Given the description of an element on the screen output the (x, y) to click on. 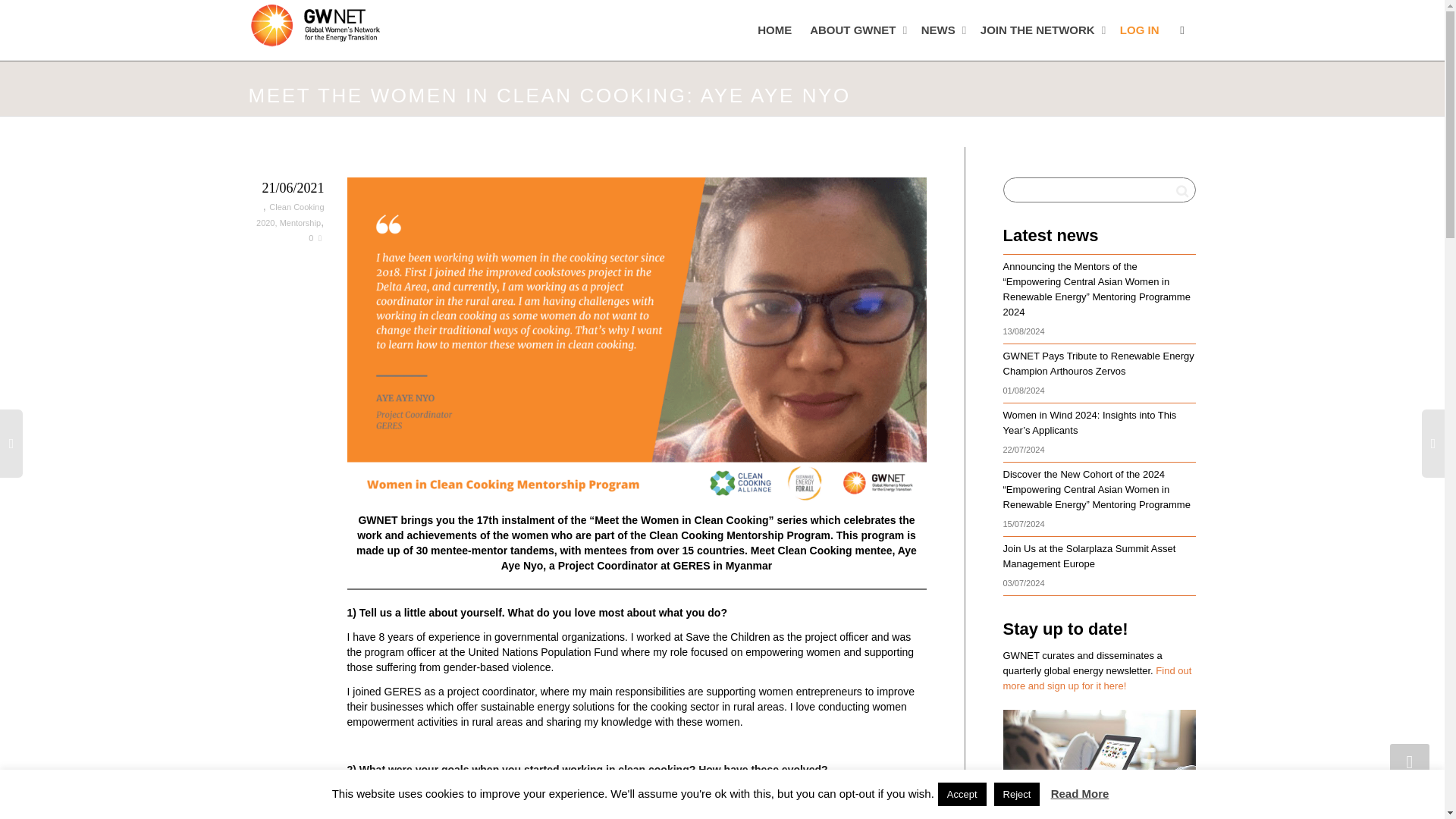
Clean Cooking 2020 (289, 214)
NEWS (941, 30)
Search (1181, 190)
0 (315, 237)
Mentorship (299, 222)
ABOUT GWNET (855, 30)
NEWS (941, 30)
Search (1181, 190)
ABOUT GWNET (855, 30)
JOIN THE NETWORK (1040, 30)
